Given the description of an element on the screen output the (x, y) to click on. 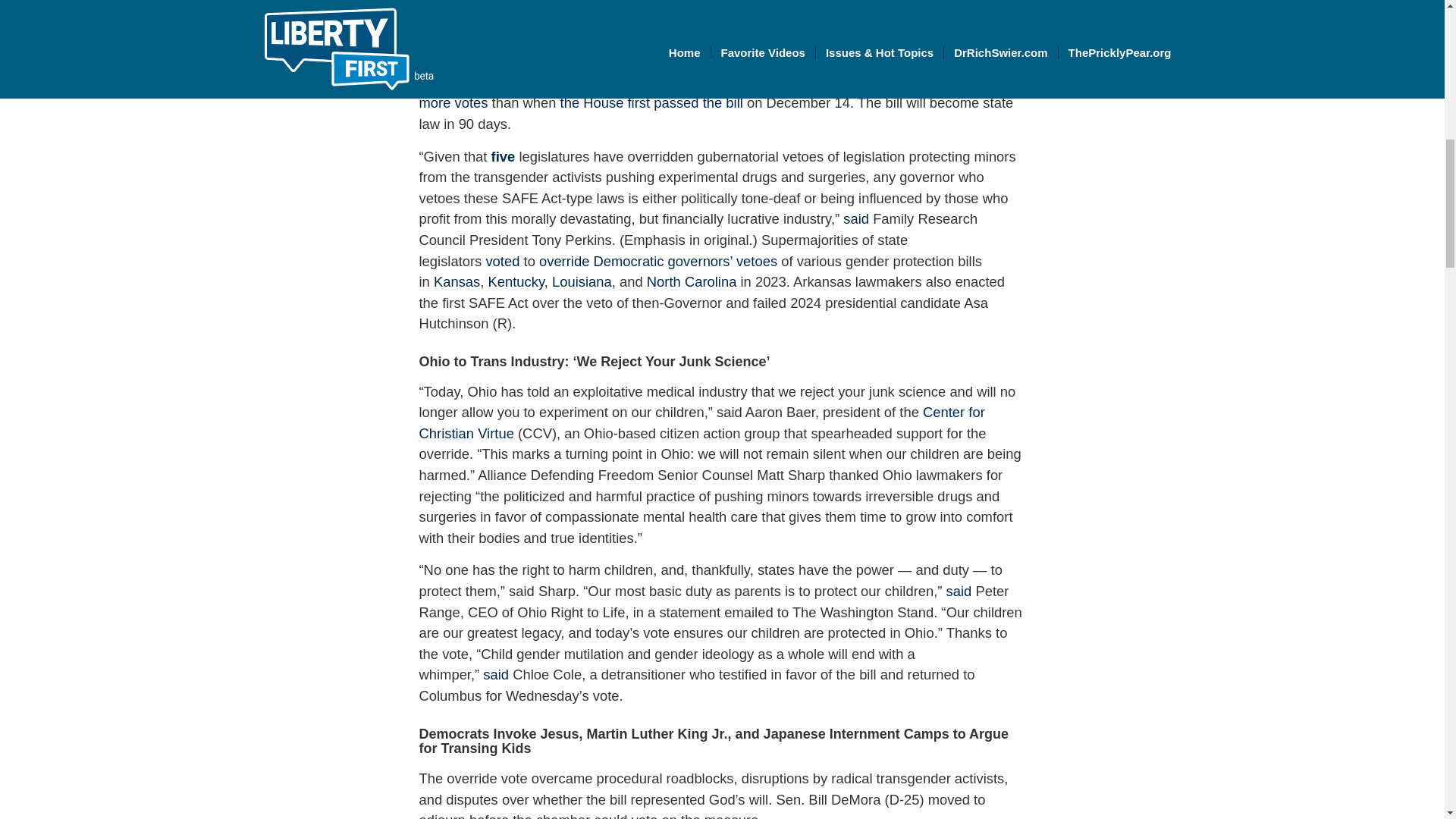
four more votes (713, 92)
the House first passed the bill (651, 102)
overrode the veto (698, 82)
